Given the description of an element on the screen output the (x, y) to click on. 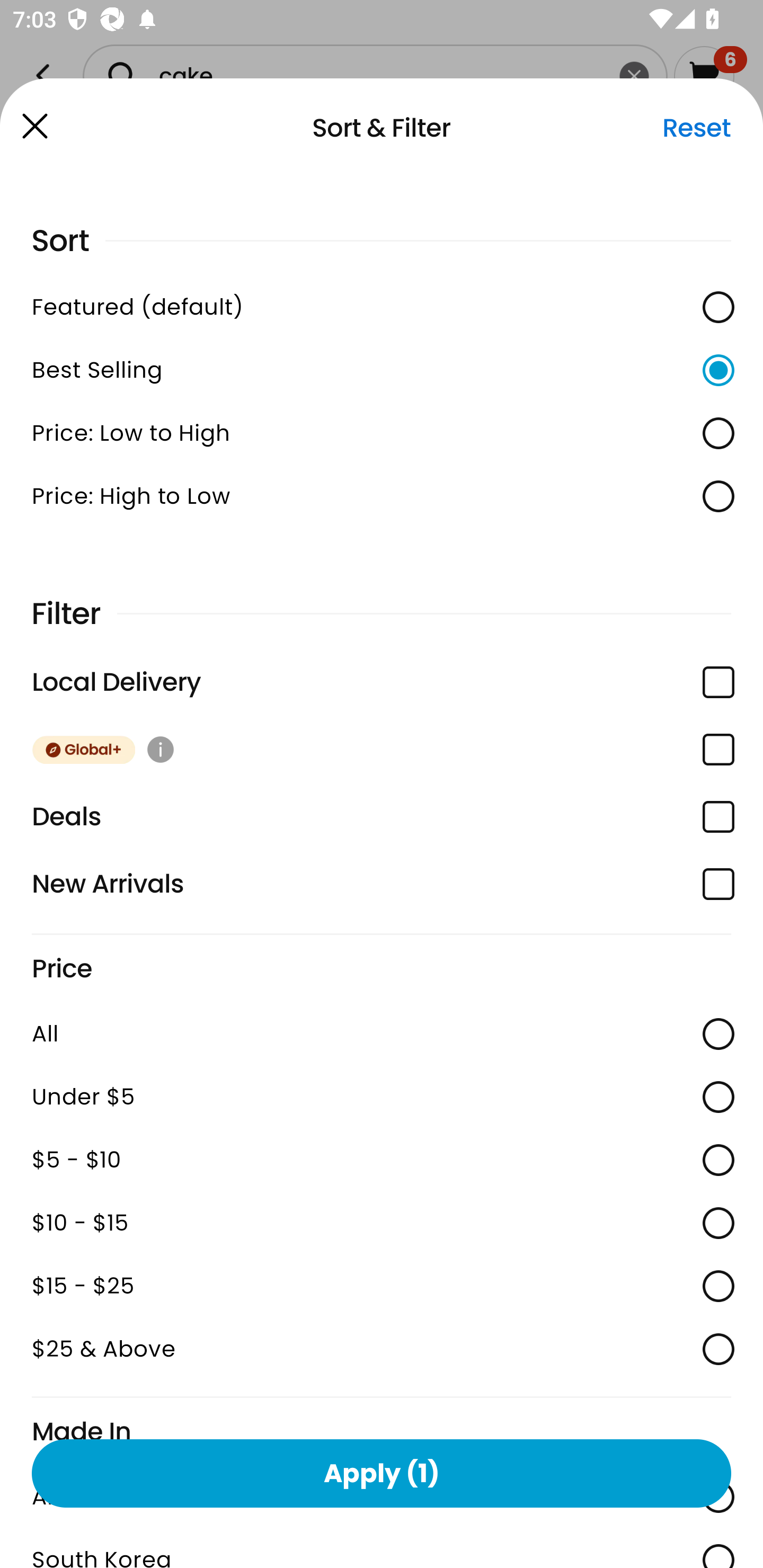
Reset (696, 127)
Apply (1) (381, 1472)
